Given the description of an element on the screen output the (x, y) to click on. 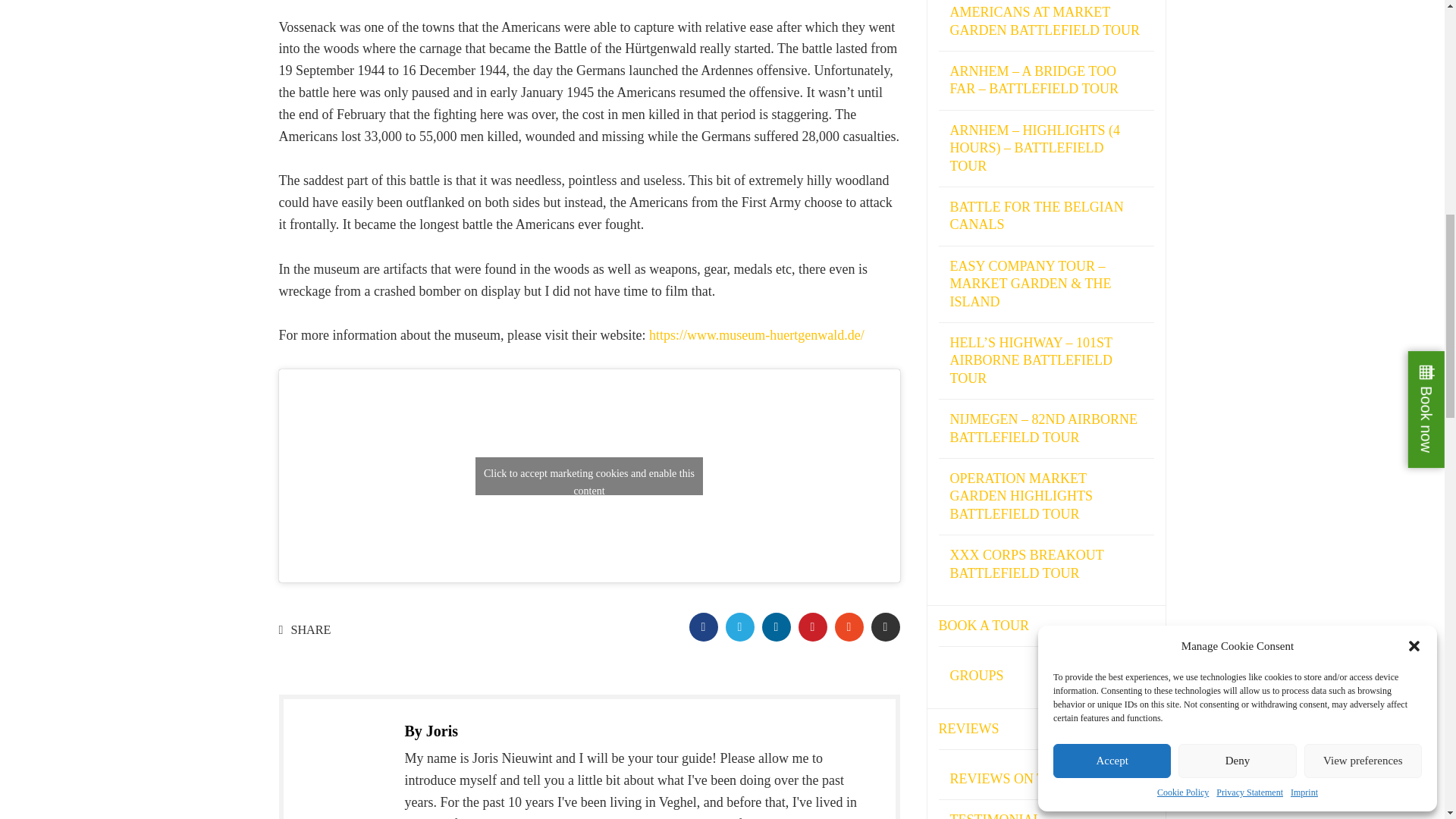
FareHarbor (1342, 64)
